Given the description of an element on the screen output the (x, y) to click on. 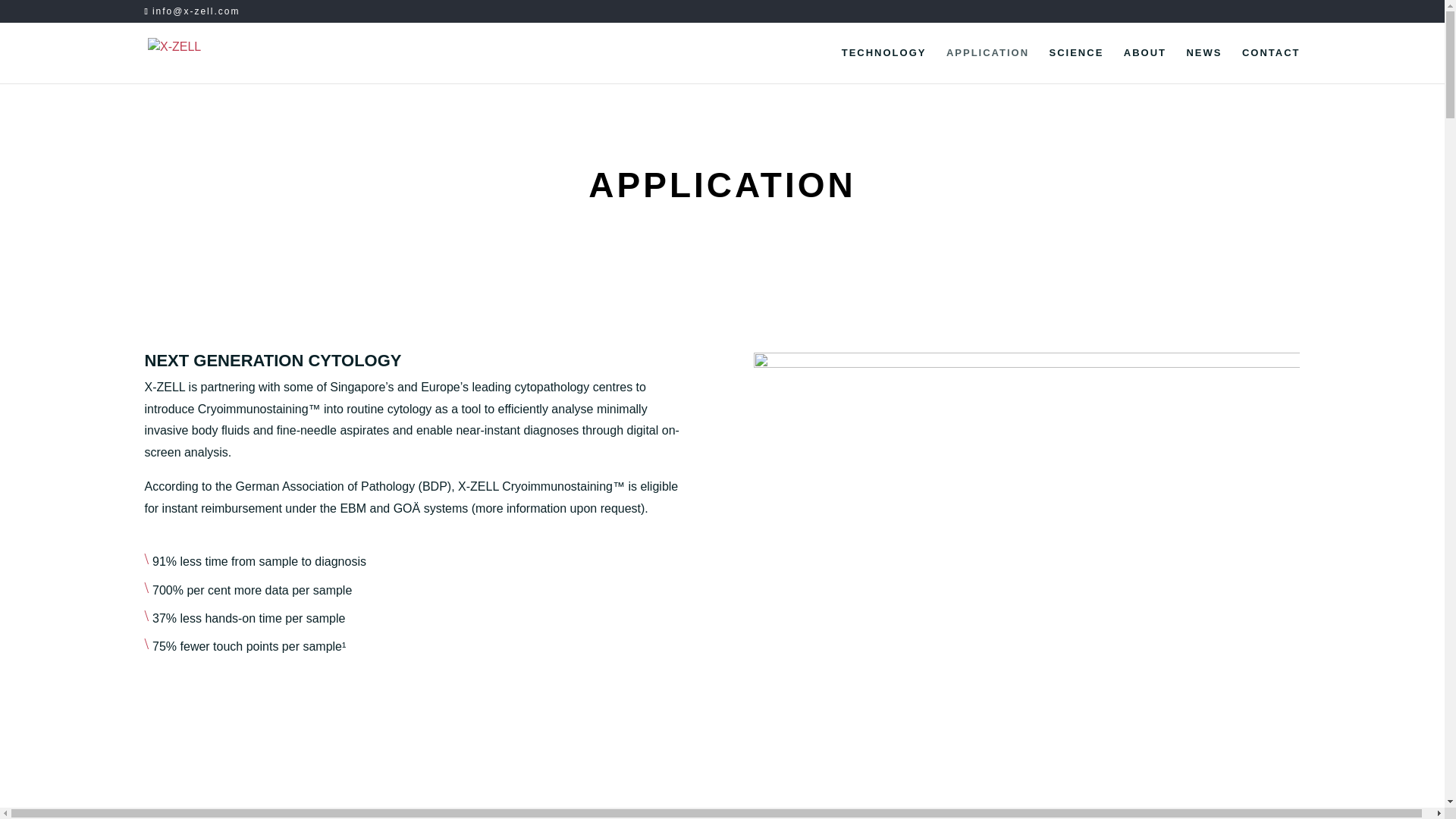
NEWS (1203, 65)
TECHNOLOGY (883, 65)
SCIENCE (1076, 65)
APPLICATION (987, 65)
CONTACT (1270, 65)
ABOUT (1145, 65)
